Given the description of an element on the screen output the (x, y) to click on. 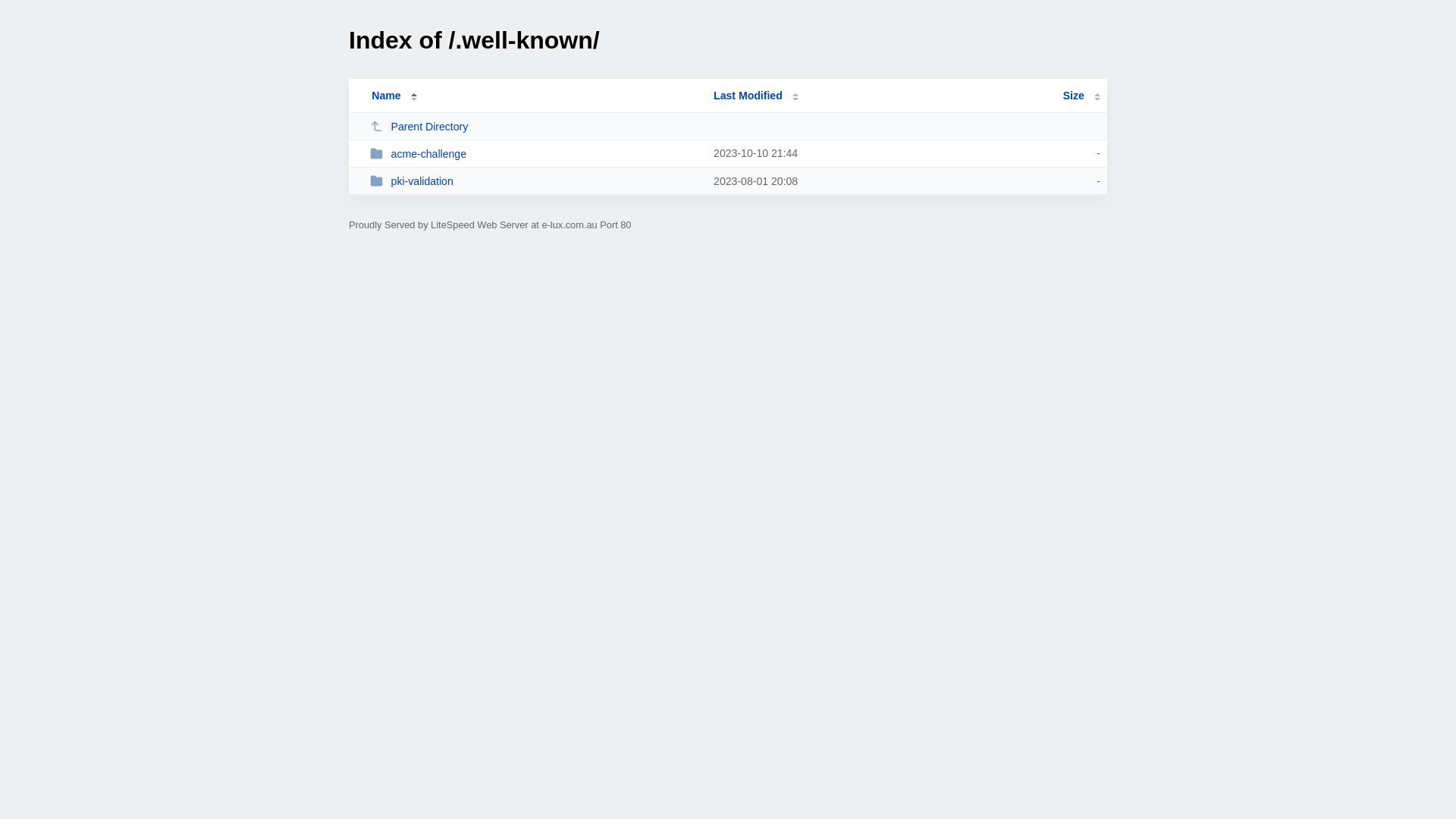
Name Element type: text (385, 95)
Parent Directory Element type: text (534, 125)
Last Modified Element type: text (755, 95)
acme-challenge Element type: text (534, 153)
Size Element type: text (1081, 95)
pki-validation Element type: text (534, 180)
